Given the description of an element on the screen output the (x, y) to click on. 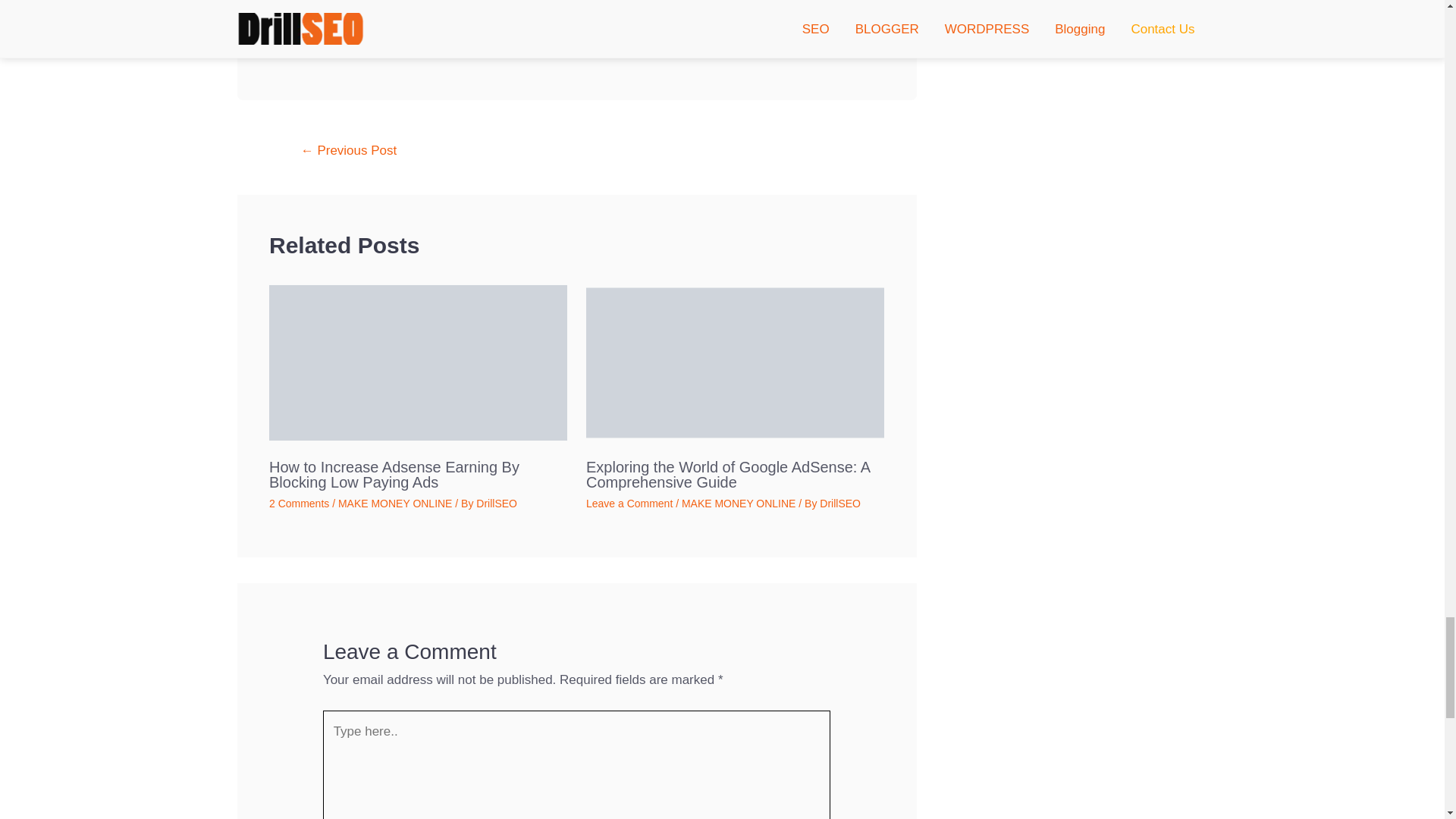
View all posts by DrillSEO (839, 503)
View all posts by DrillSEO (496, 503)
